Given the description of an element on the screen output the (x, y) to click on. 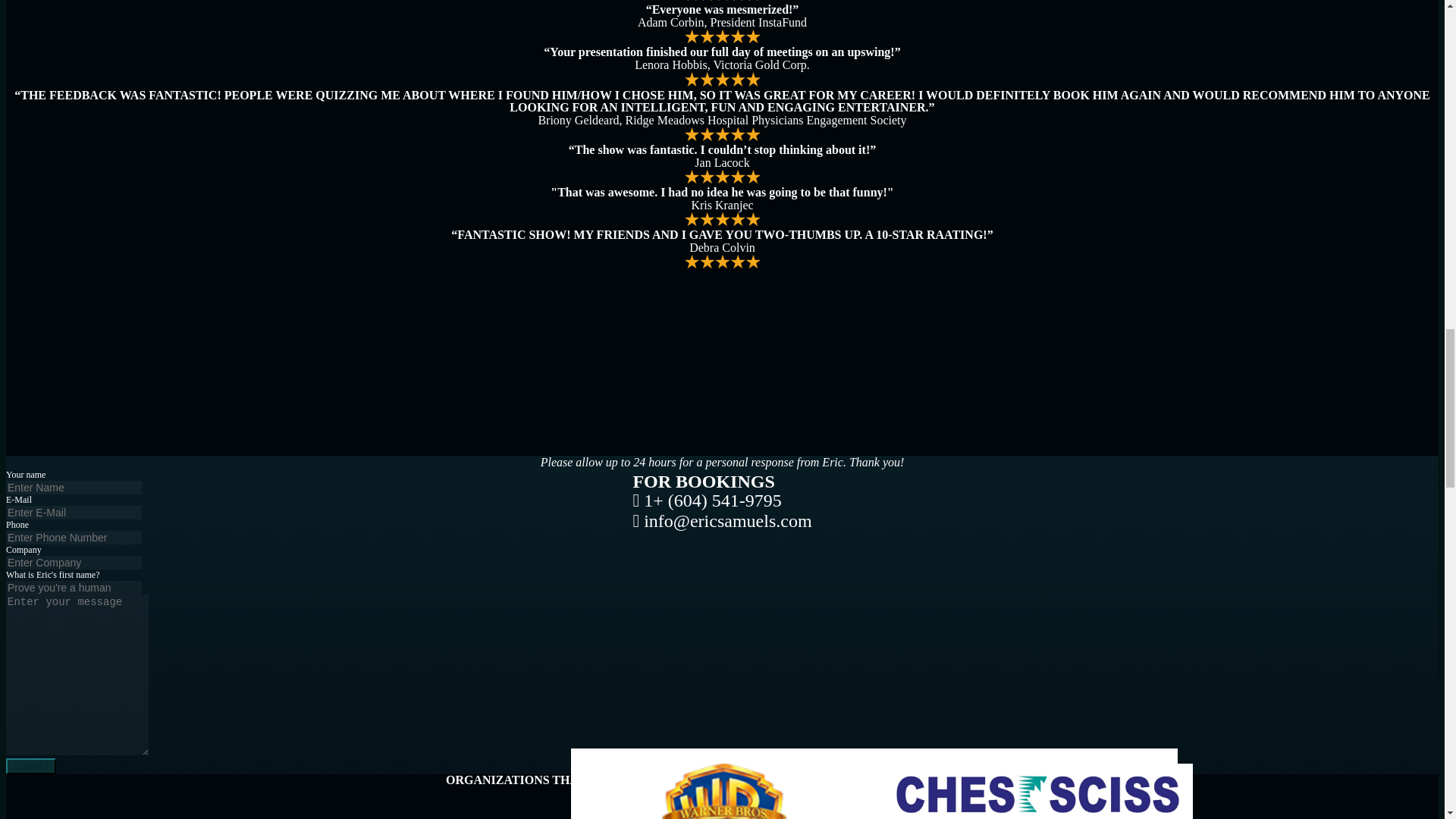
SUBMIT (30, 765)
